Given the description of an element on the screen output the (x, y) to click on. 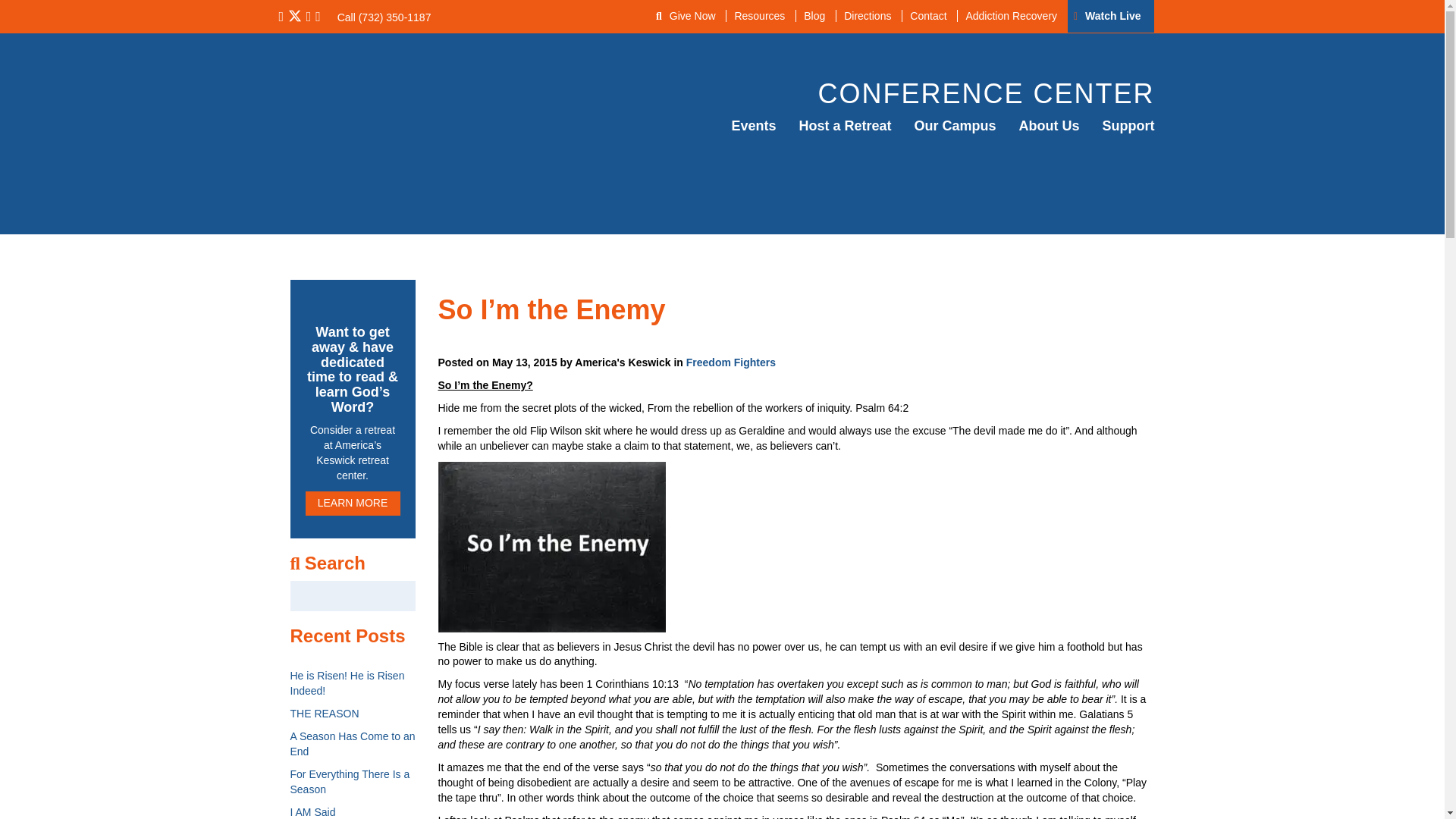
Christian Retreat Center (844, 125)
Give Now (692, 15)
Blog (813, 15)
Directions (866, 15)
Addiction Recovery (1010, 15)
Contact (927, 15)
Resources (758, 15)
Watch Live (1112, 15)
Christian Events in NJ (753, 125)
Events (753, 125)
Host a Retreat (844, 125)
